Given the description of an element on the screen output the (x, y) to click on. 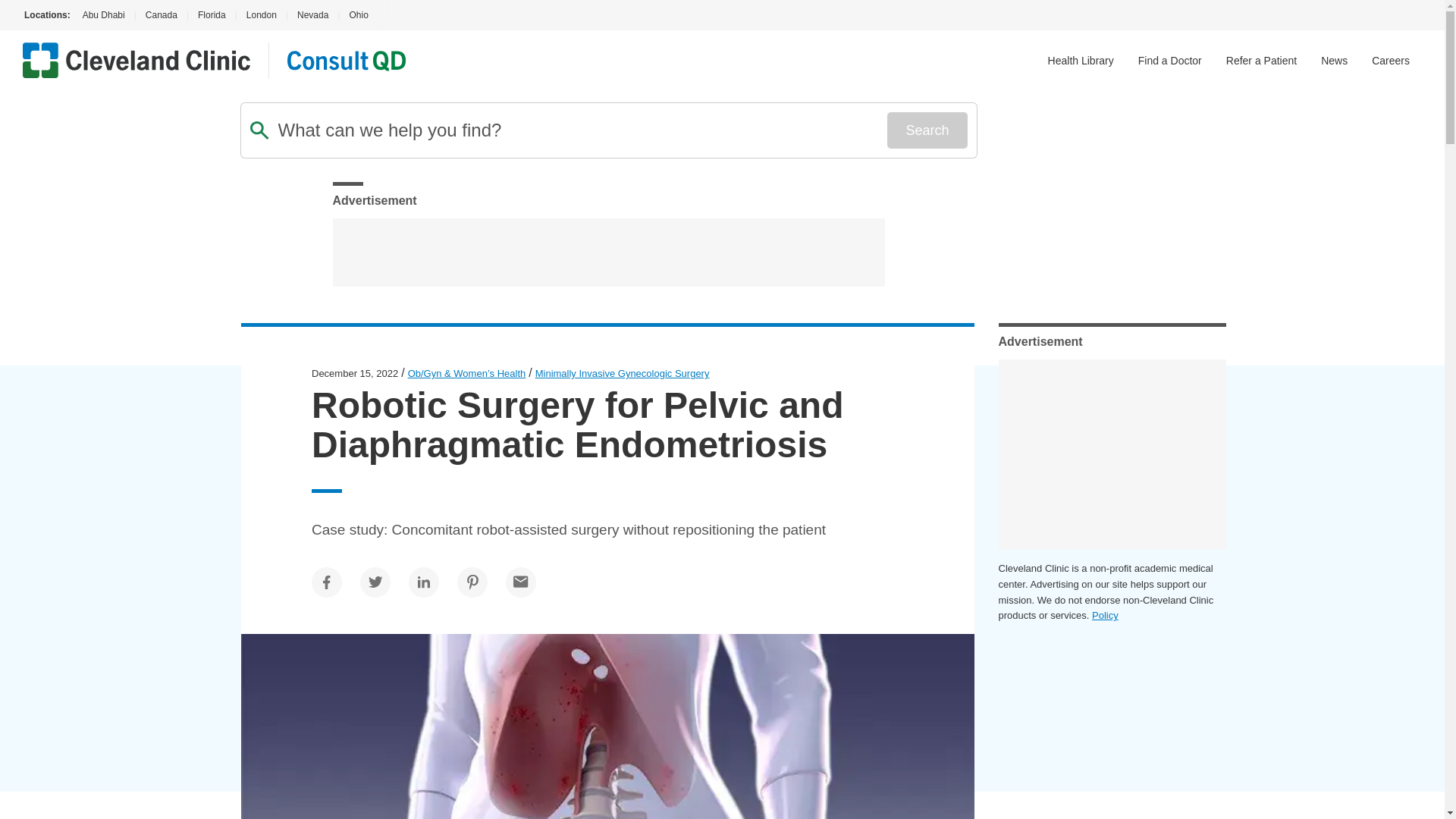
Refer a Patient (1261, 60)
London (261, 15)
Nevada (312, 15)
Ohio (358, 15)
News (1334, 60)
Abu Dhabi (101, 15)
Careers (1390, 60)
Florida (211, 15)
Policy (1105, 614)
Minimally Invasive Gynecologic Surgery (622, 373)
Find a Doctor (1170, 60)
Canada (161, 15)
Health Library (1080, 60)
